Given the description of an element on the screen output the (x, y) to click on. 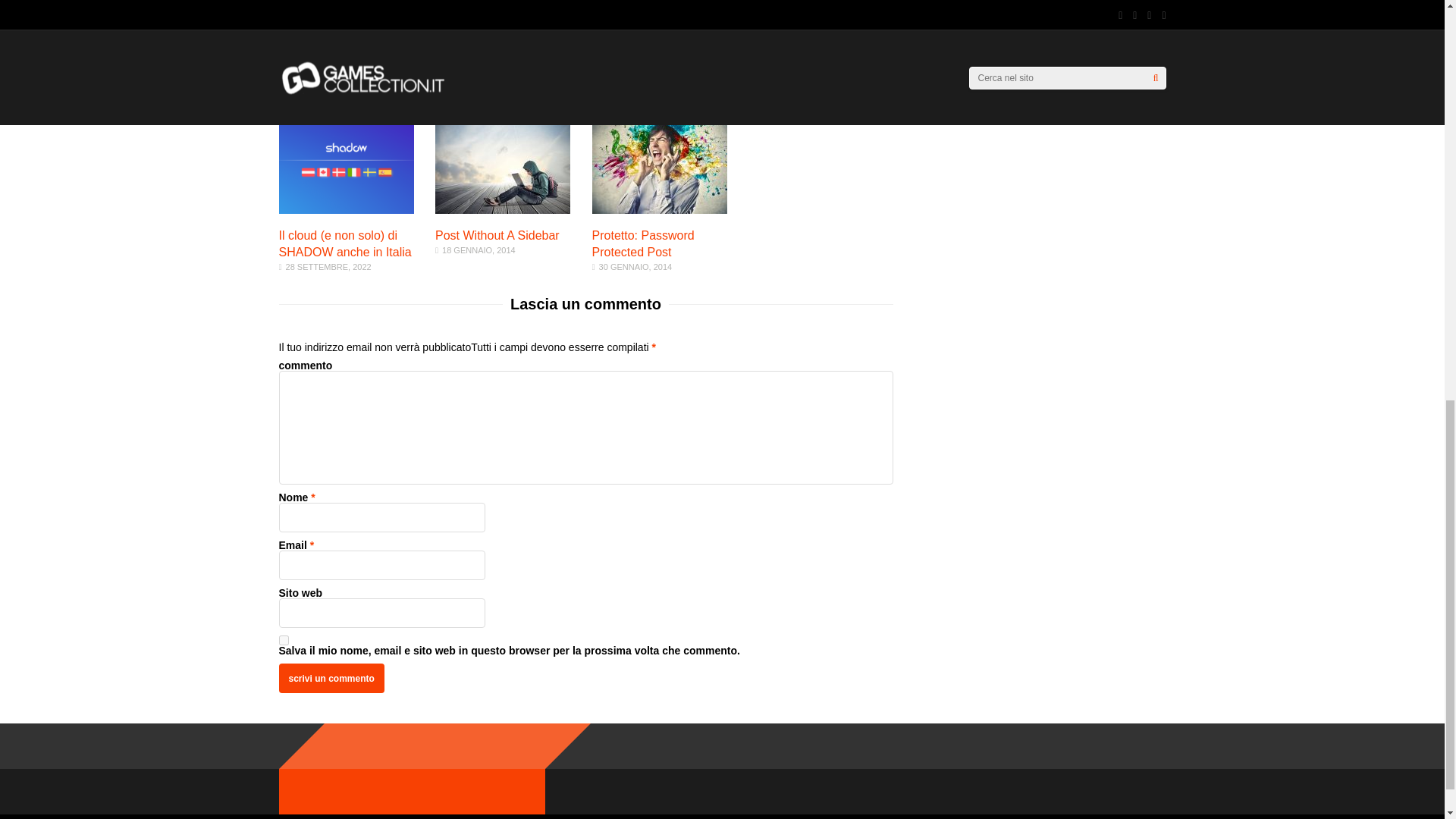
Post Without A Sidebar (497, 235)
Protetto: Password Protected Post (643, 243)
Post Without A Sidebar (331, 677)
Post Without A Sidebar (497, 235)
Protetto: Password Protected Post (502, 209)
Protetto: Password Protected Post (659, 209)
yes (643, 243)
